Given the description of an element on the screen output the (x, y) to click on. 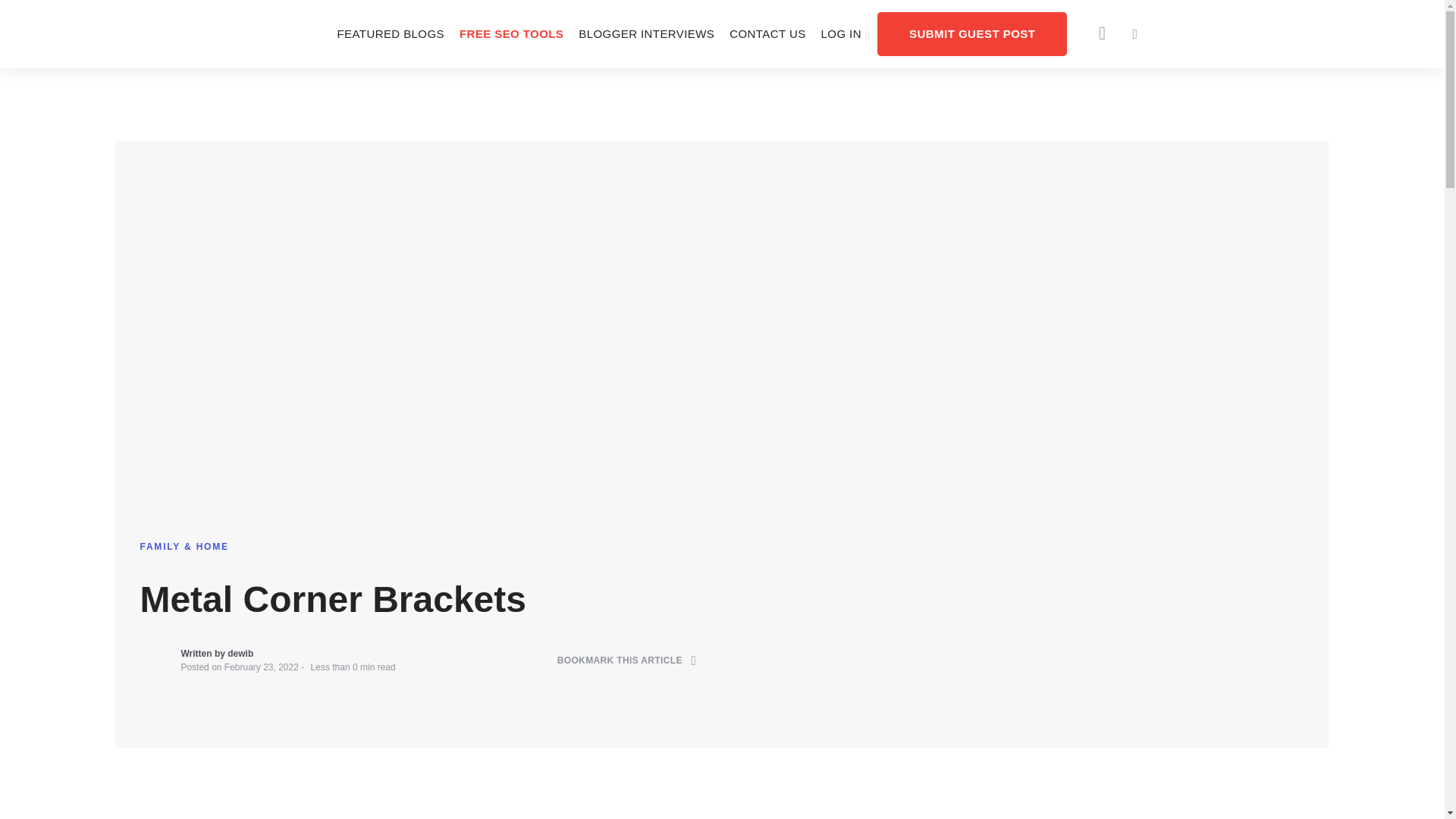
dewib (240, 653)
BOOKMARK THIS ARTICLE (627, 660)
FEATURED BLOGS (390, 33)
BLOGGER INTERVIEWS (646, 33)
FEATURED BLOGS (390, 33)
FREE SEO TOOLS (510, 33)
SUBMIT GUEST POST (972, 33)
LOG IN (845, 33)
CONTACT US (767, 33)
CONTACT US (767, 33)
February 23, 2022 (261, 666)
BLOGGER INTERVIEWS (646, 33)
LOG IN (845, 33)
FREE SEO TOOLS (510, 33)
SUBMIT GUEST POST (972, 33)
